Given the description of an element on the screen output the (x, y) to click on. 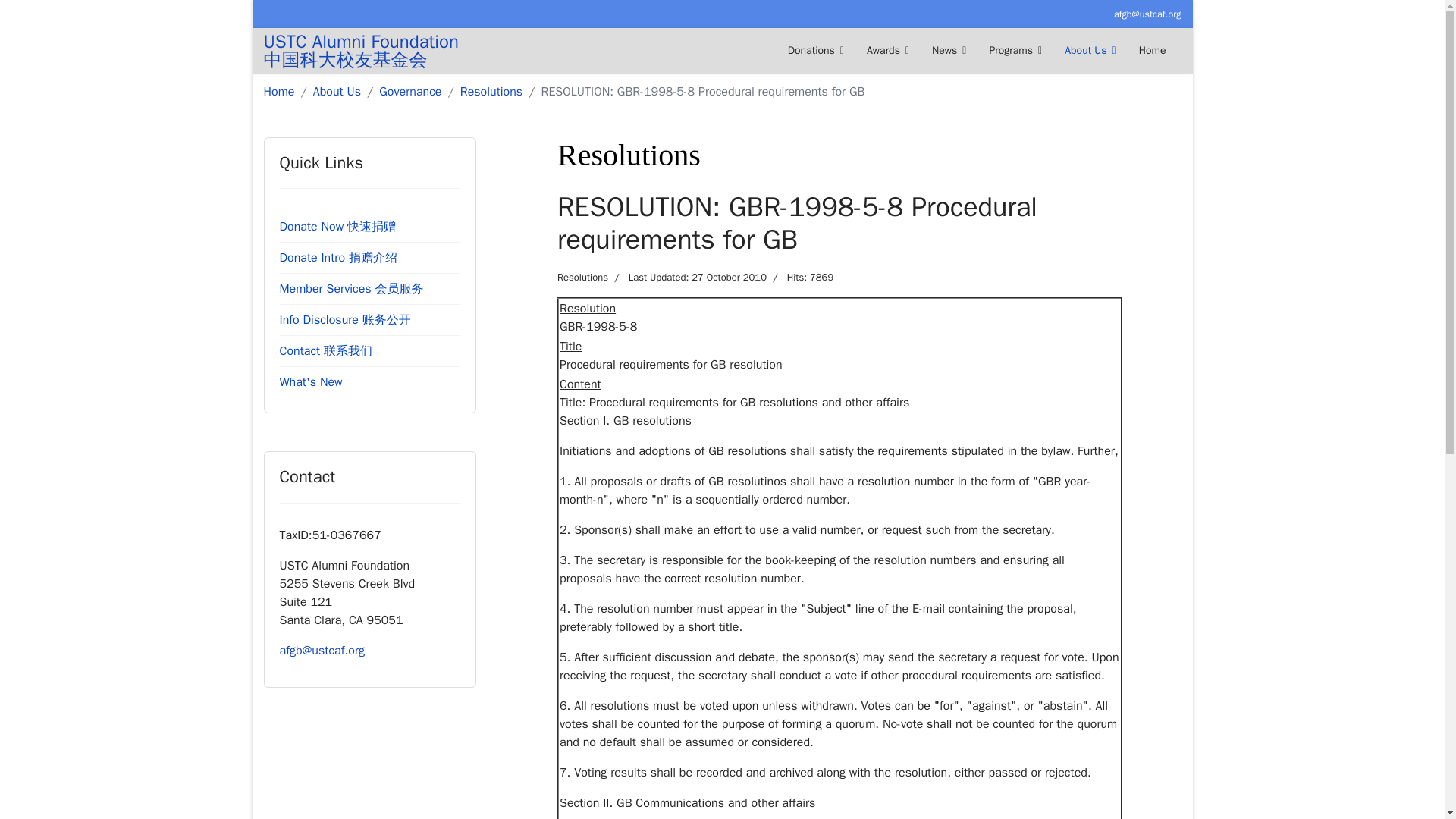
Home (1151, 50)
Category: Resolutions (582, 277)
Resolutions (491, 91)
About Us (337, 91)
Home (279, 91)
Governance (409, 91)
Donations (816, 50)
Programs (1014, 50)
About Us (1089, 50)
Awards (888, 50)
News (948, 50)
